Given the description of an element on the screen output the (x, y) to click on. 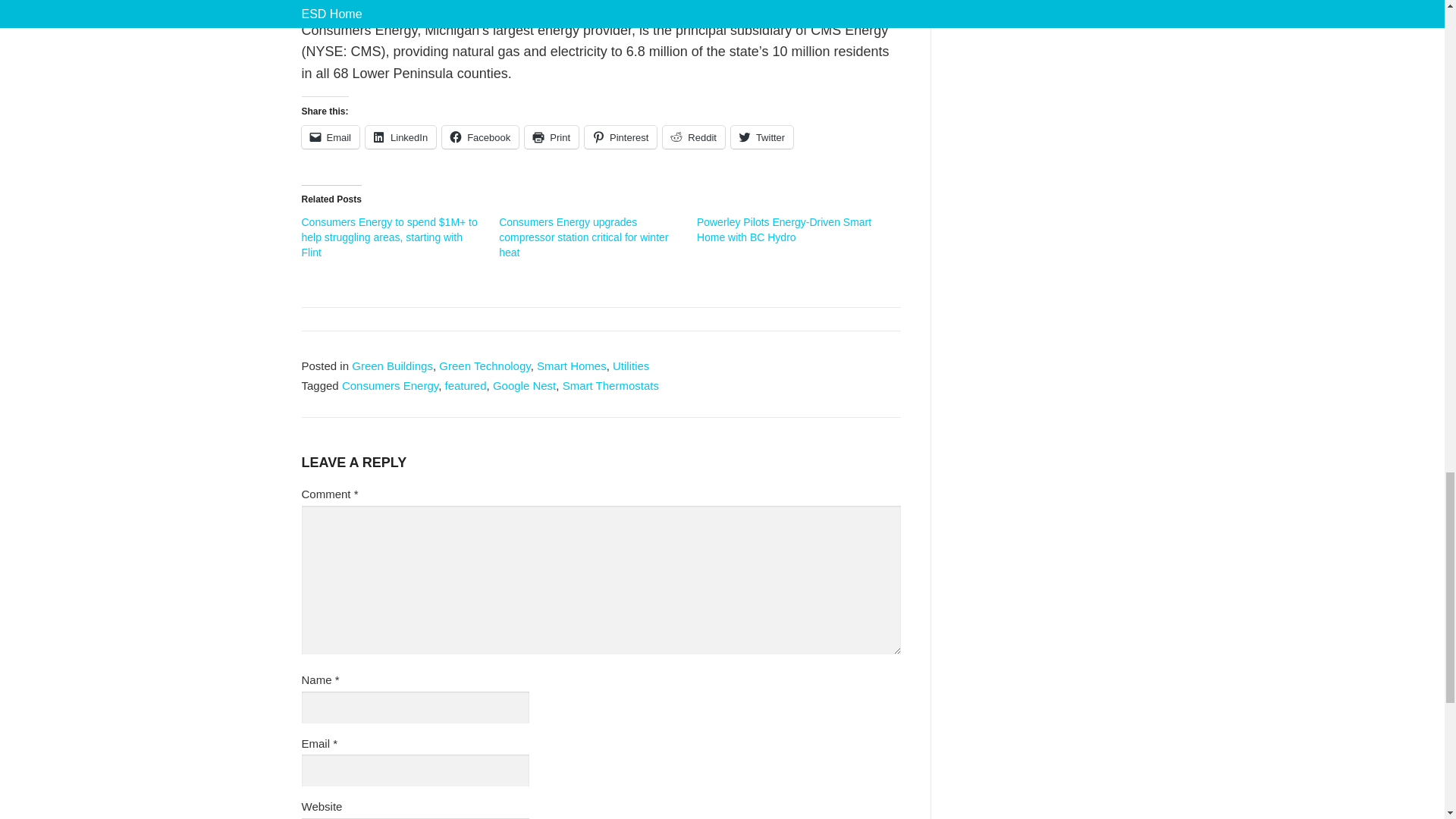
Powerley Pilots Energy-Driven Smart Home with BC Hydro (783, 229)
Utilities (630, 365)
Smart Thermostats (610, 385)
Facebook (480, 137)
Click to share on Pinterest (620, 137)
Reddit (693, 137)
Email (330, 137)
Click to share on Twitter (761, 137)
Twitter (761, 137)
Green Technology (484, 365)
Powerley Pilots Energy-Driven Smart Home with BC Hydro (783, 229)
Google Nest (524, 385)
Click to email a link to a friend (330, 137)
